Given the description of an element on the screen output the (x, y) to click on. 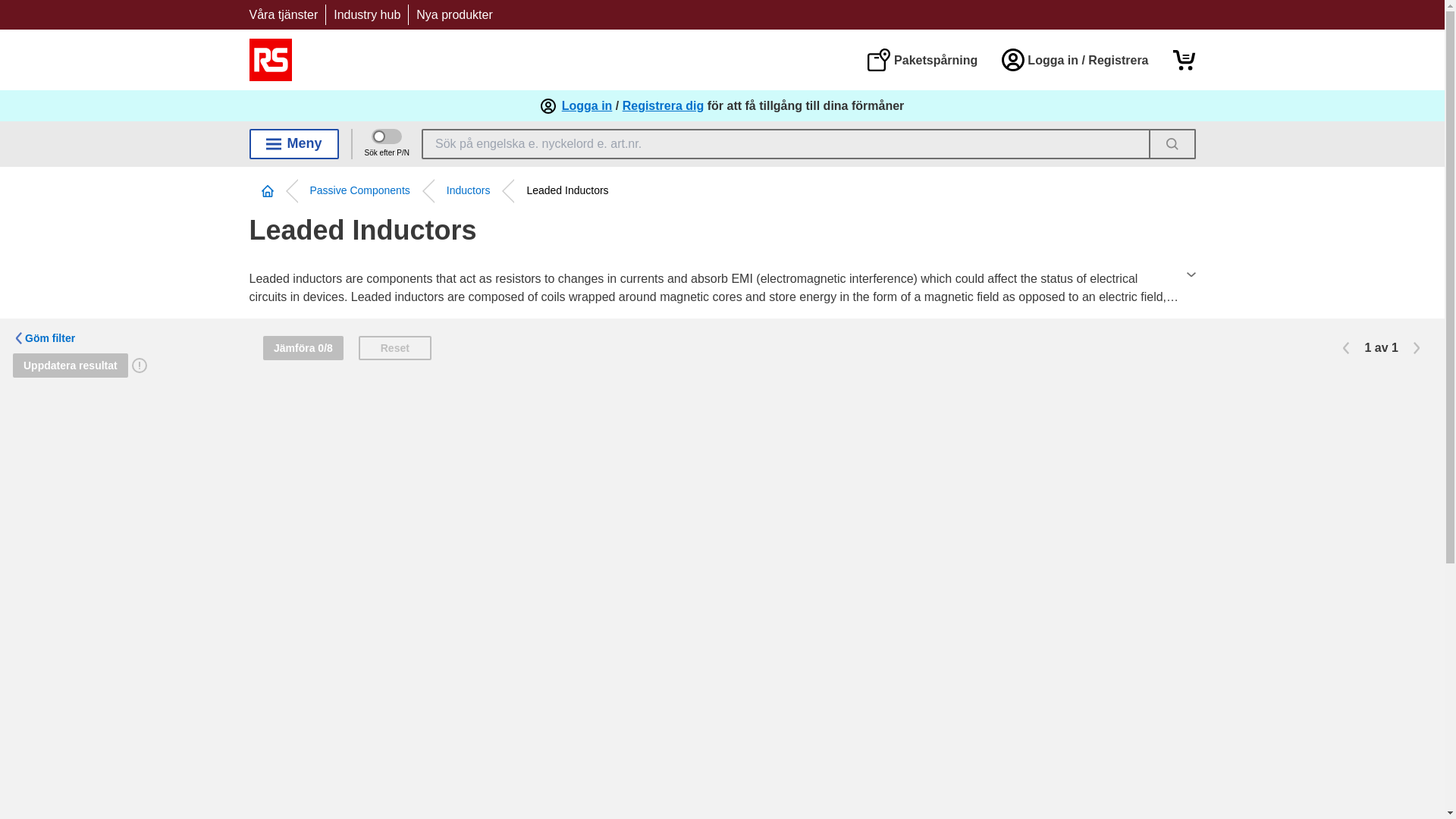
Industry hub (366, 14)
Nya produkter (454, 14)
Logga in (587, 105)
Registrera dig (663, 105)
Meny (292, 143)
